Given the description of an element on the screen output the (x, y) to click on. 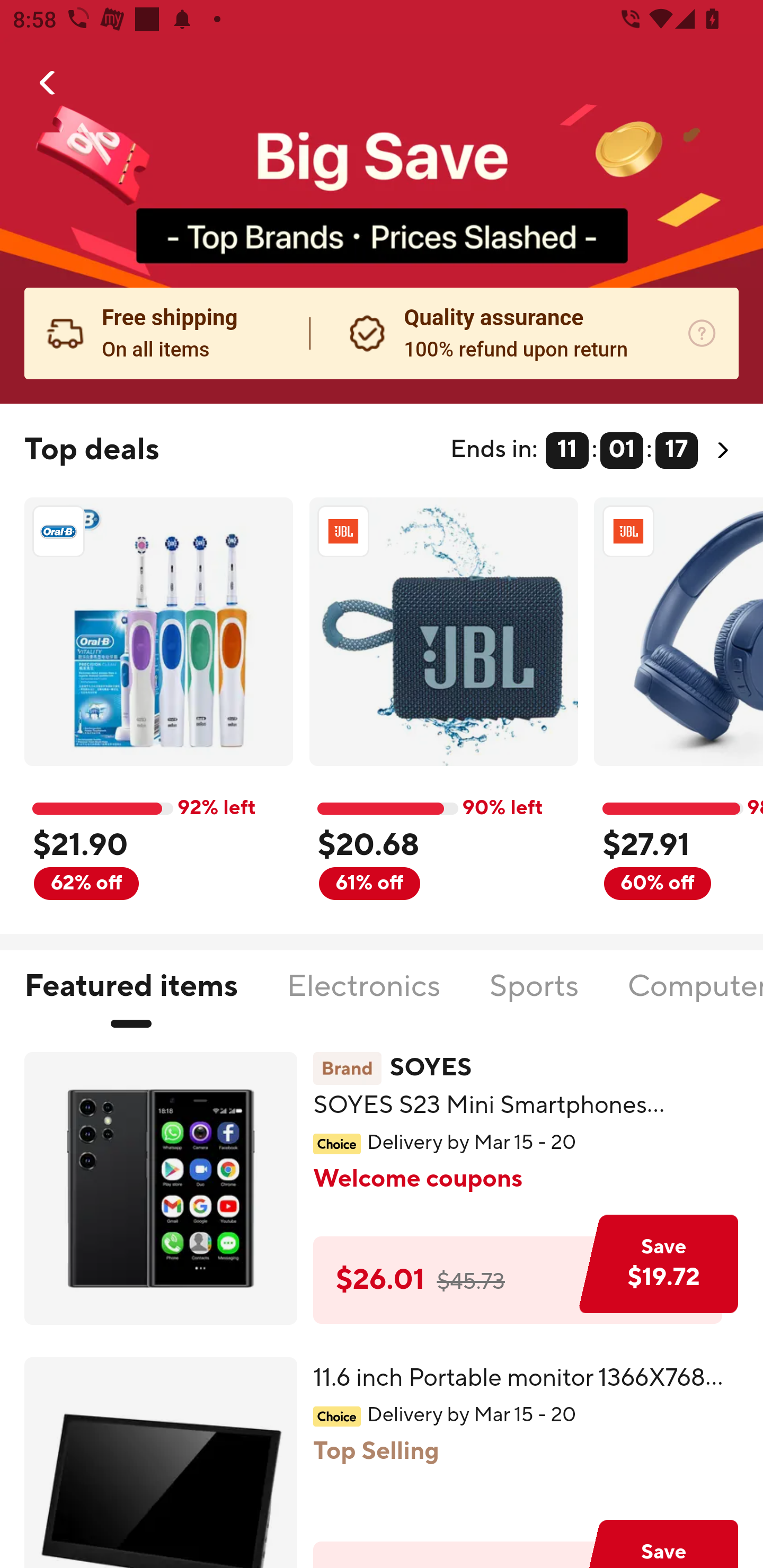
 (48, 82)
Featured items (130, 996)
Electronics (363, 996)
Sports (533, 996)
Computer & Office (694, 996)
